Given the description of an element on the screen output the (x, y) to click on. 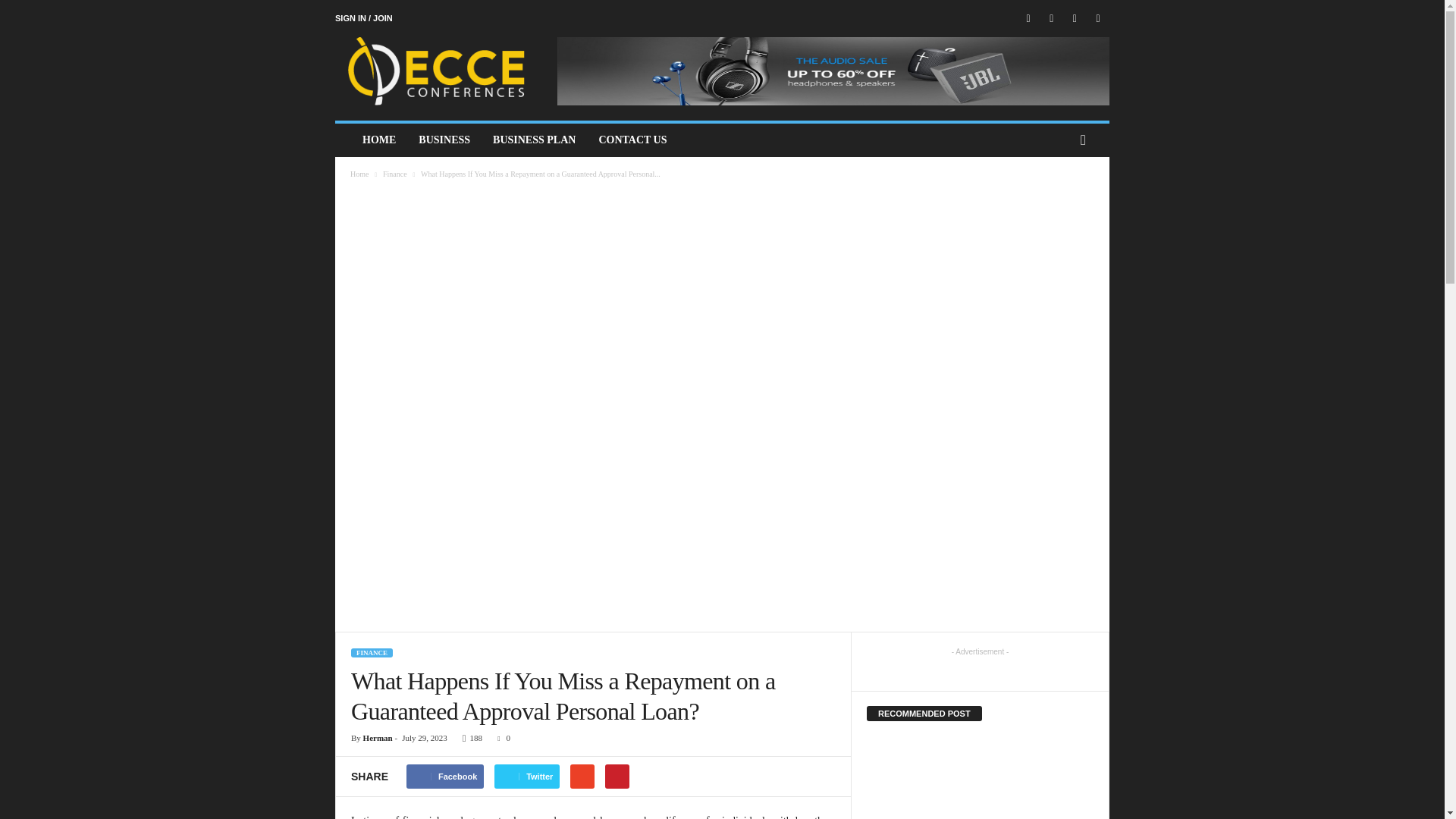
BUSINESS PLAN (533, 140)
0 (501, 737)
Home (359, 173)
CONTACT US (632, 140)
FINANCE (371, 652)
Meet with more business people here (437, 70)
BUSINESS (444, 140)
HOME (378, 140)
Herman (377, 737)
Finance (394, 173)
